Given the description of an element on the screen output the (x, y) to click on. 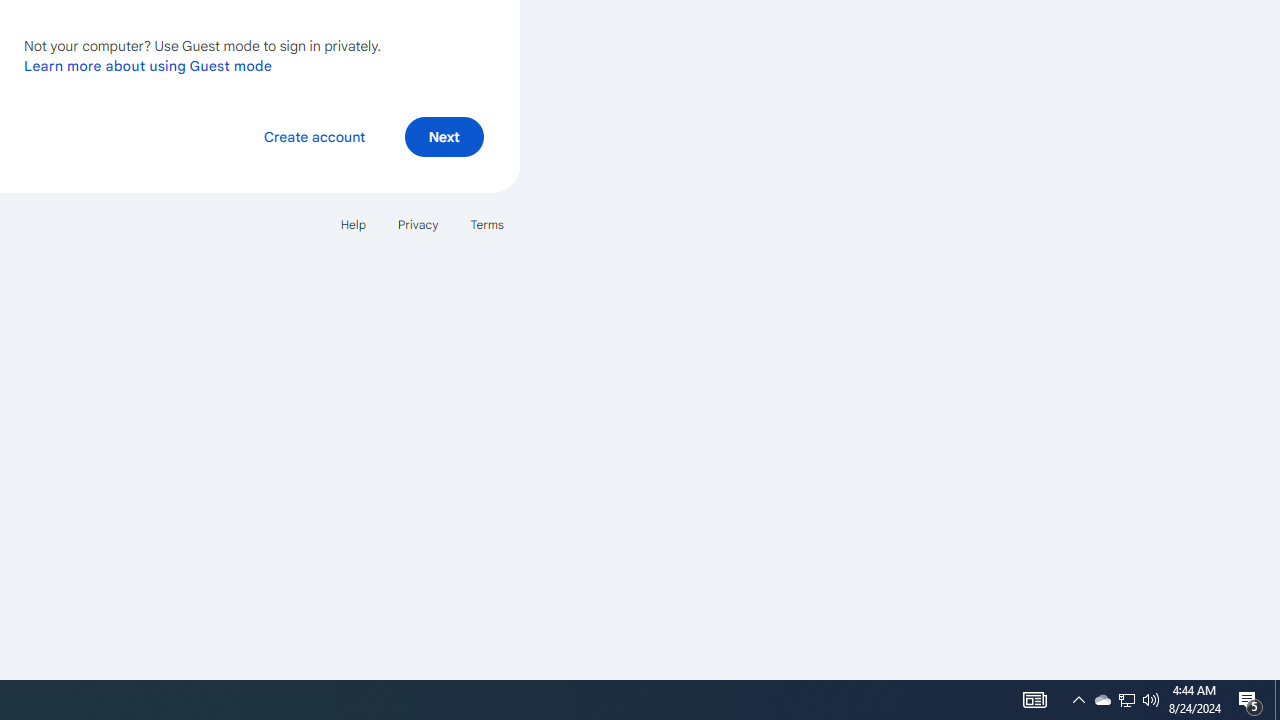
Create account (314, 135)
Next (443, 135)
Learn more about using Guest mode (148, 65)
